Given the description of an element on the screen output the (x, y) to click on. 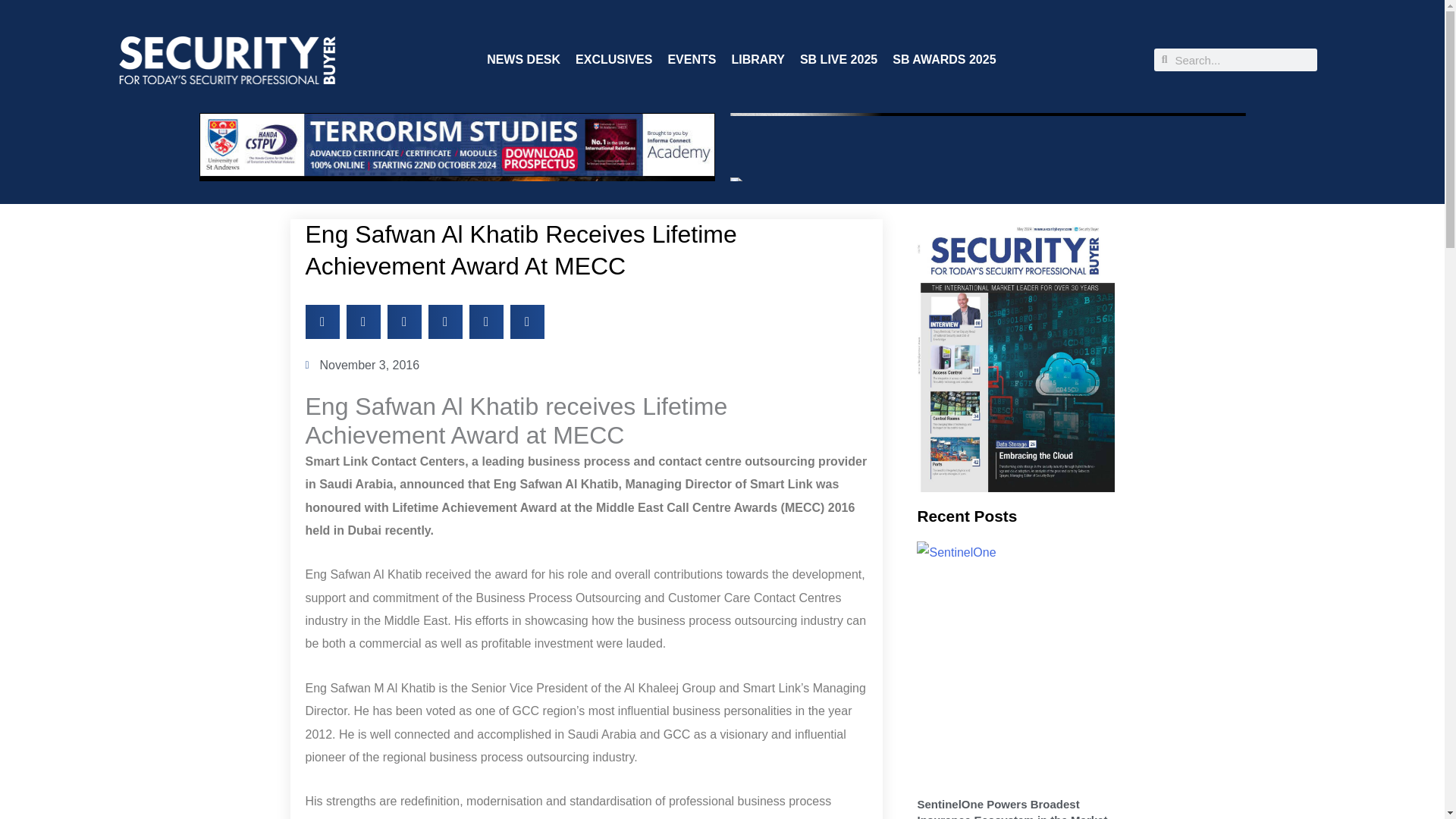
SB AWARDS 2025 (943, 59)
SB LIVE 2025 (838, 59)
LIBRARY (757, 59)
EVENTS (691, 59)
EXCLUSIVES (613, 59)
NEWS DESK (523, 59)
